Given the description of an element on the screen output the (x, y) to click on. 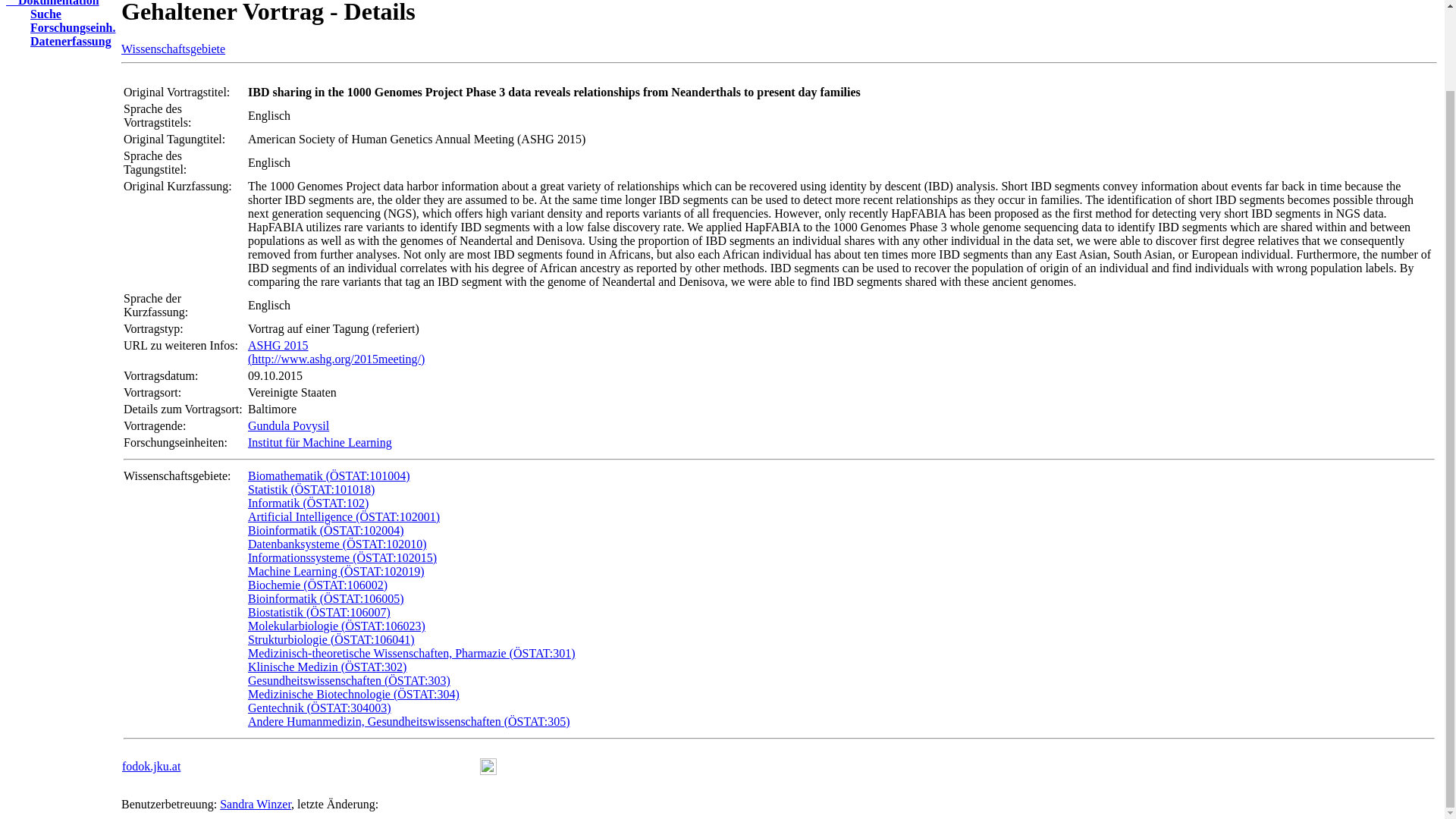
Forschungseinh. (66, 27)
Wissenschaftsgebiete (172, 48)
Wissenschaftsgebiete: (52, 3)
Datenerfassung (177, 475)
Gundula Povysil (64, 41)
Suche (288, 425)
Sandra Winzer (39, 13)
fodok.jku.at (255, 803)
